Given the description of an element on the screen output the (x, y) to click on. 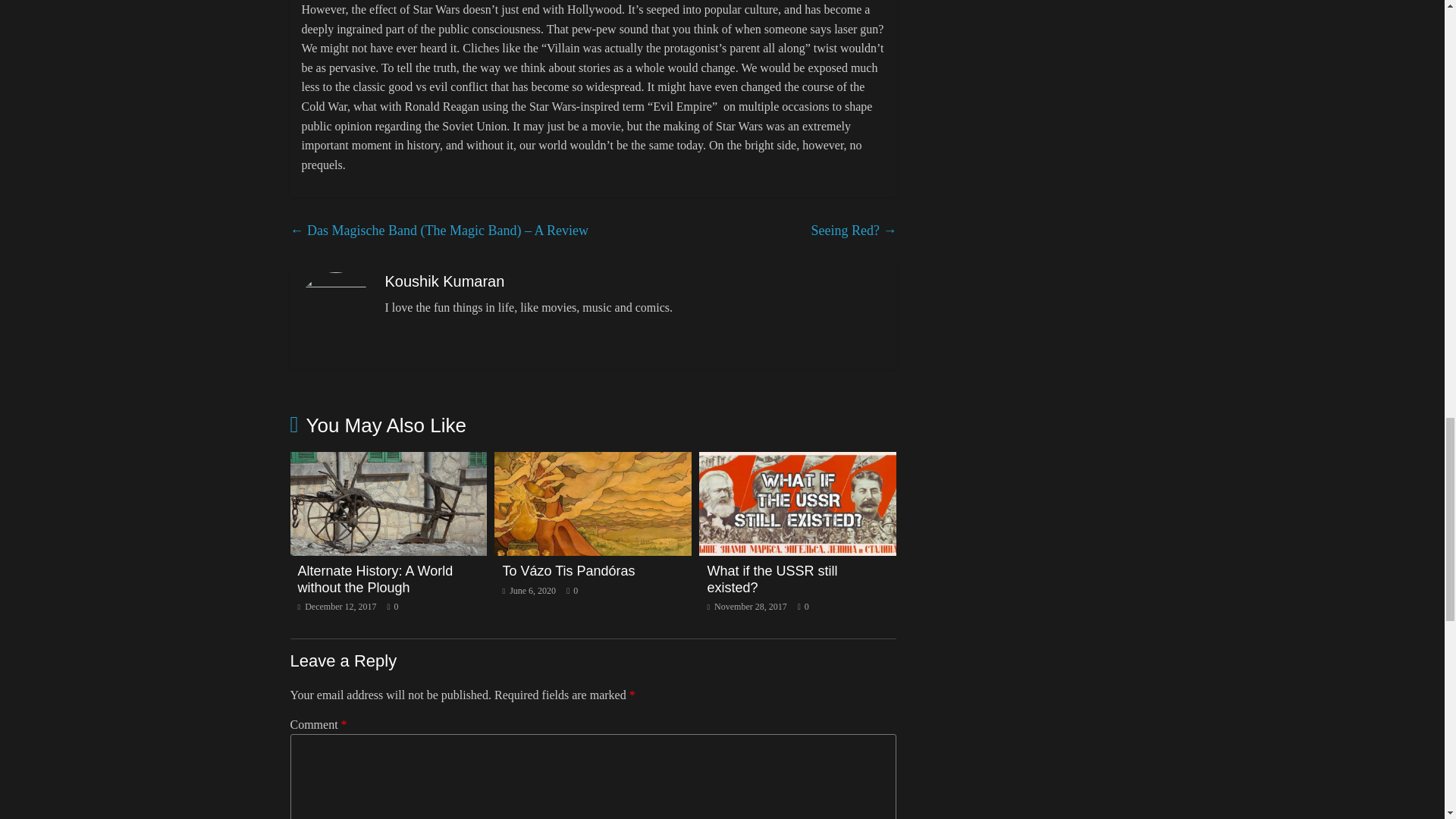
Alternate History: A World without the Plough (374, 579)
Alternate History: A World without the Plough (387, 461)
7:29 pm (336, 606)
